Given the description of an element on the screen output the (x, y) to click on. 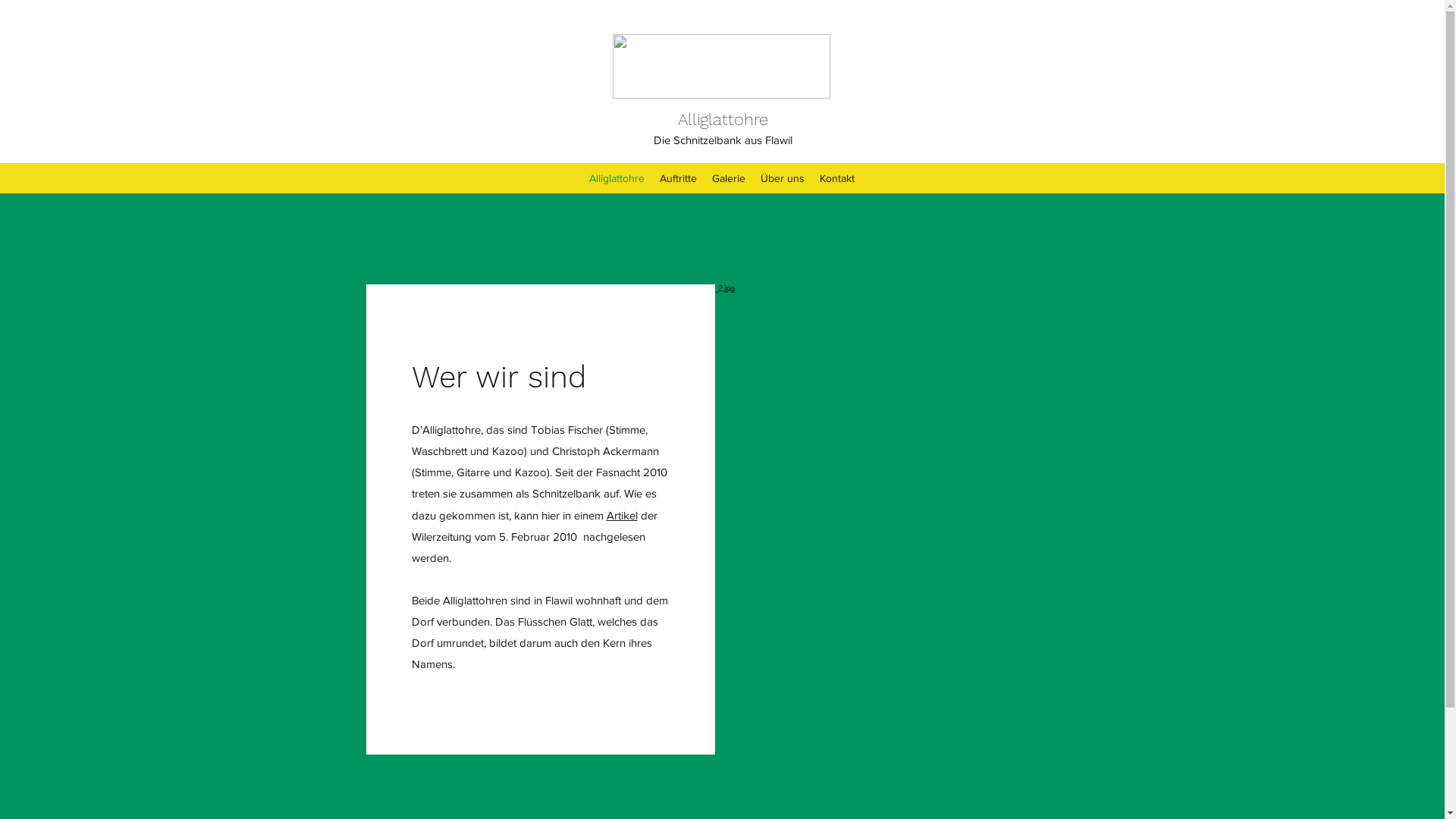
Auftritte Element type: text (678, 177)
Galerie Element type: text (728, 177)
Kontakt Element type: text (837, 177)
Alliglattohre Element type: text (616, 177)
Alliglattohre Element type: text (722, 118)
Die Schnitzelbank aus Flawil Element type: text (722, 139)
Artikel Element type: text (621, 514)
